Given the description of an element on the screen output the (x, y) to click on. 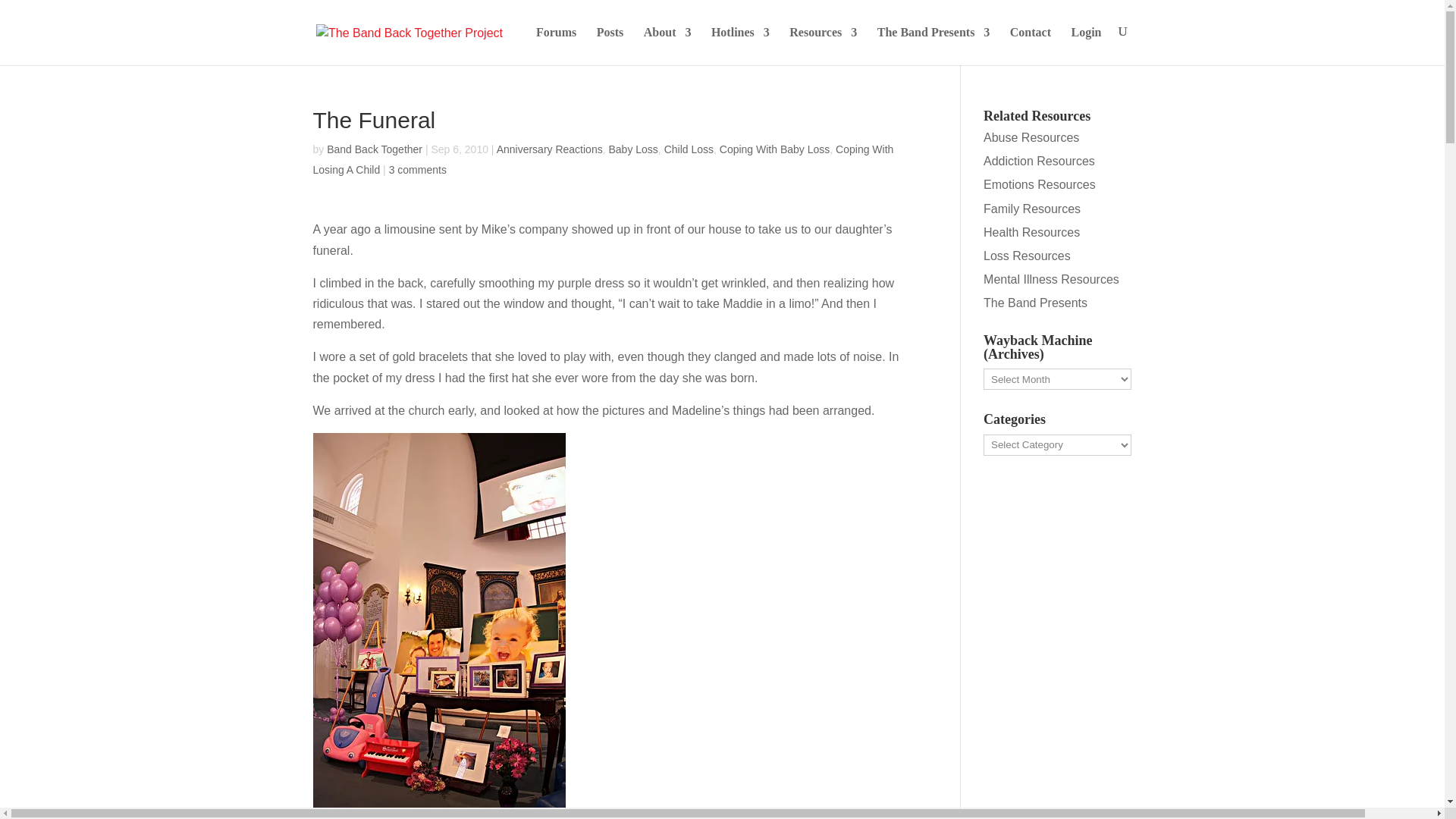
Maddieshrine Three by mooshinindy, on Flickr (438, 801)
Forums (555, 45)
About (667, 45)
Resources (823, 45)
Hotlines (740, 45)
Posts by Band Back Together (374, 149)
